Given the description of an element on the screen output the (x, y) to click on. 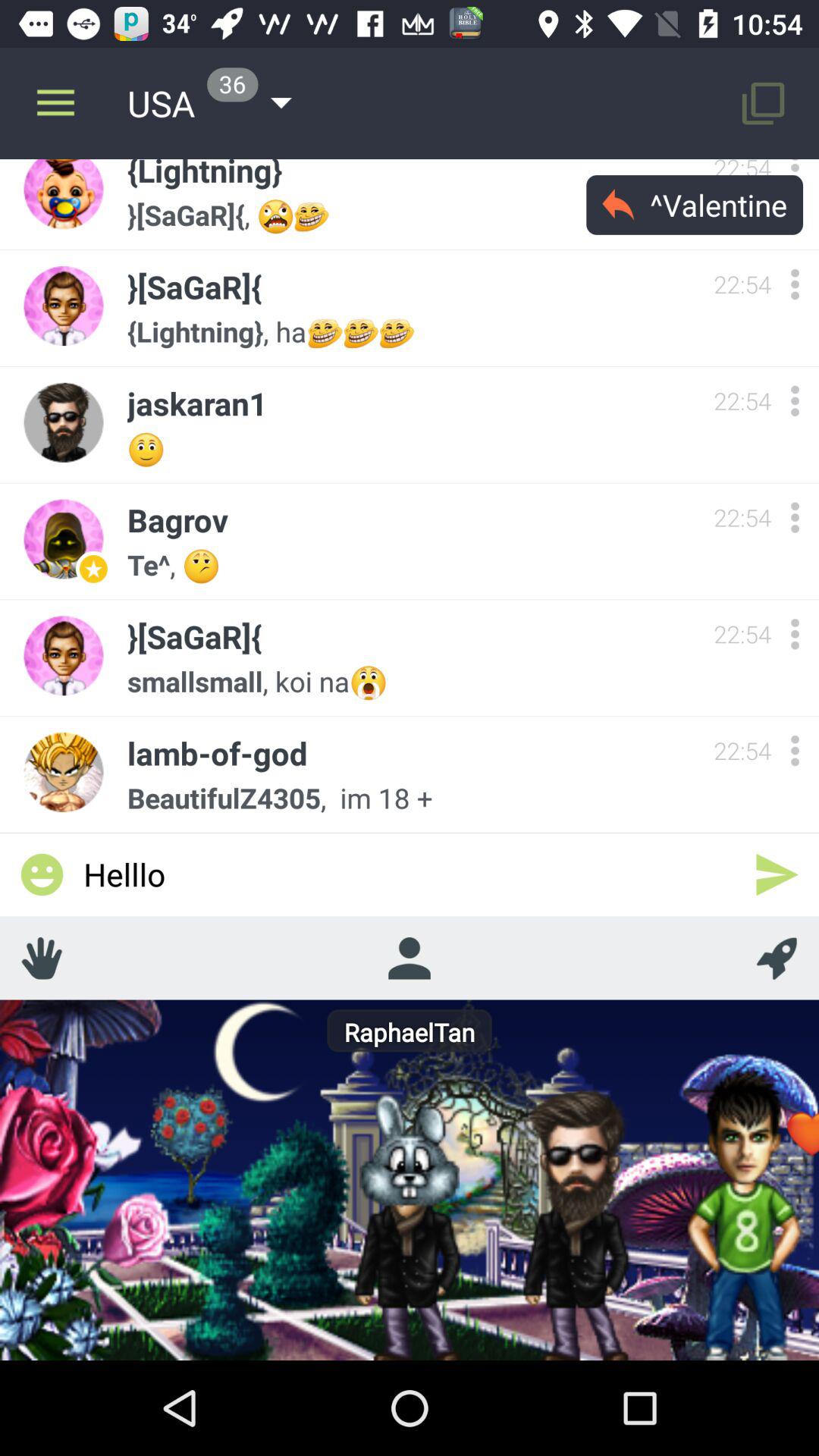
see more (795, 634)
